Given the description of an element on the screen output the (x, y) to click on. 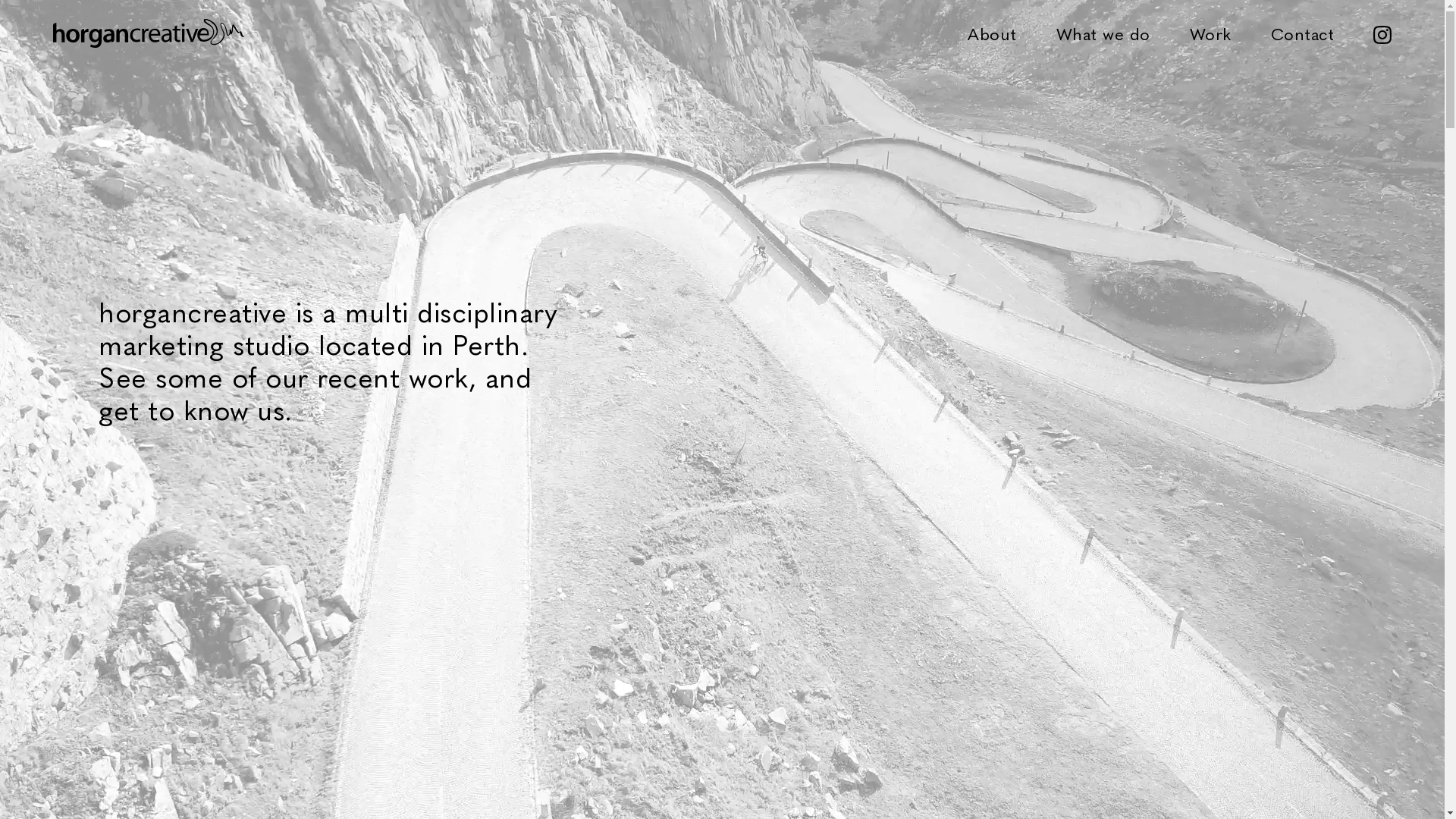
Work Element type: text (1209, 32)
Instagram Element type: hover (1382, 32)
What we do Element type: text (1102, 32)
About Element type: text (991, 32)
Contact Element type: text (1302, 32)
